Given the description of an element on the screen output the (x, y) to click on. 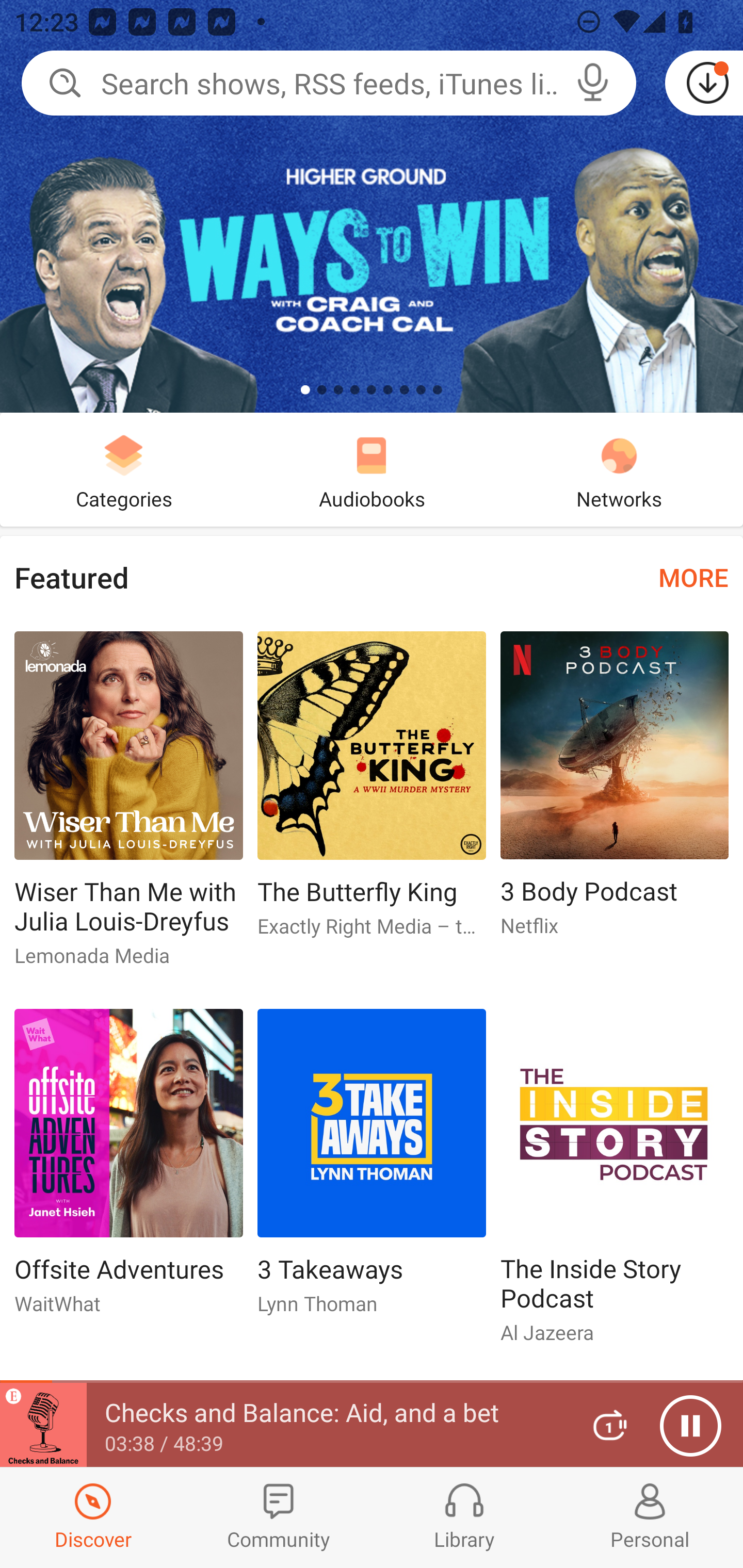
Ways To Win (371, 206)
Categories (123, 469)
Audiobooks (371, 469)
Networks (619, 469)
MORE (693, 576)
3 Body Podcast 3 Body Podcast Netflix (614, 792)
Offsite Adventures Offsite Adventures WaitWhat (128, 1169)
3 Takeaways 3 Takeaways Lynn Thoman (371, 1169)
Checks and Balance: Aid, and a bet 03:38 / 48:39 (283, 1424)
Pause (690, 1425)
Discover (92, 1517)
Community (278, 1517)
Library (464, 1517)
Profiles and Settings Personal (650, 1517)
